Given the description of an element on the screen output the (x, y) to click on. 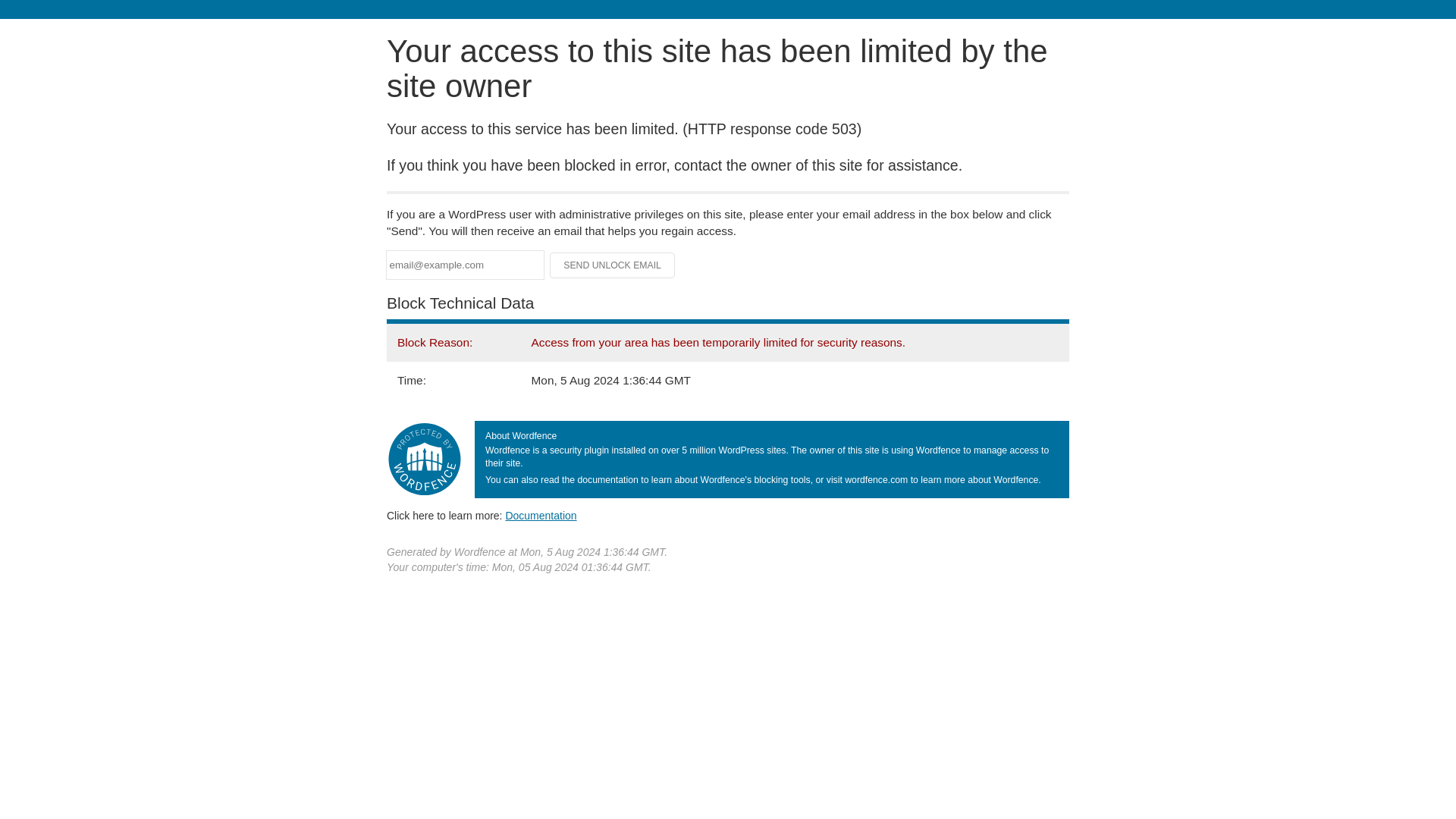
Send Unlock Email (612, 265)
Send Unlock Email (612, 265)
Documentation (540, 515)
